Given the description of an element on the screen output the (x, y) to click on. 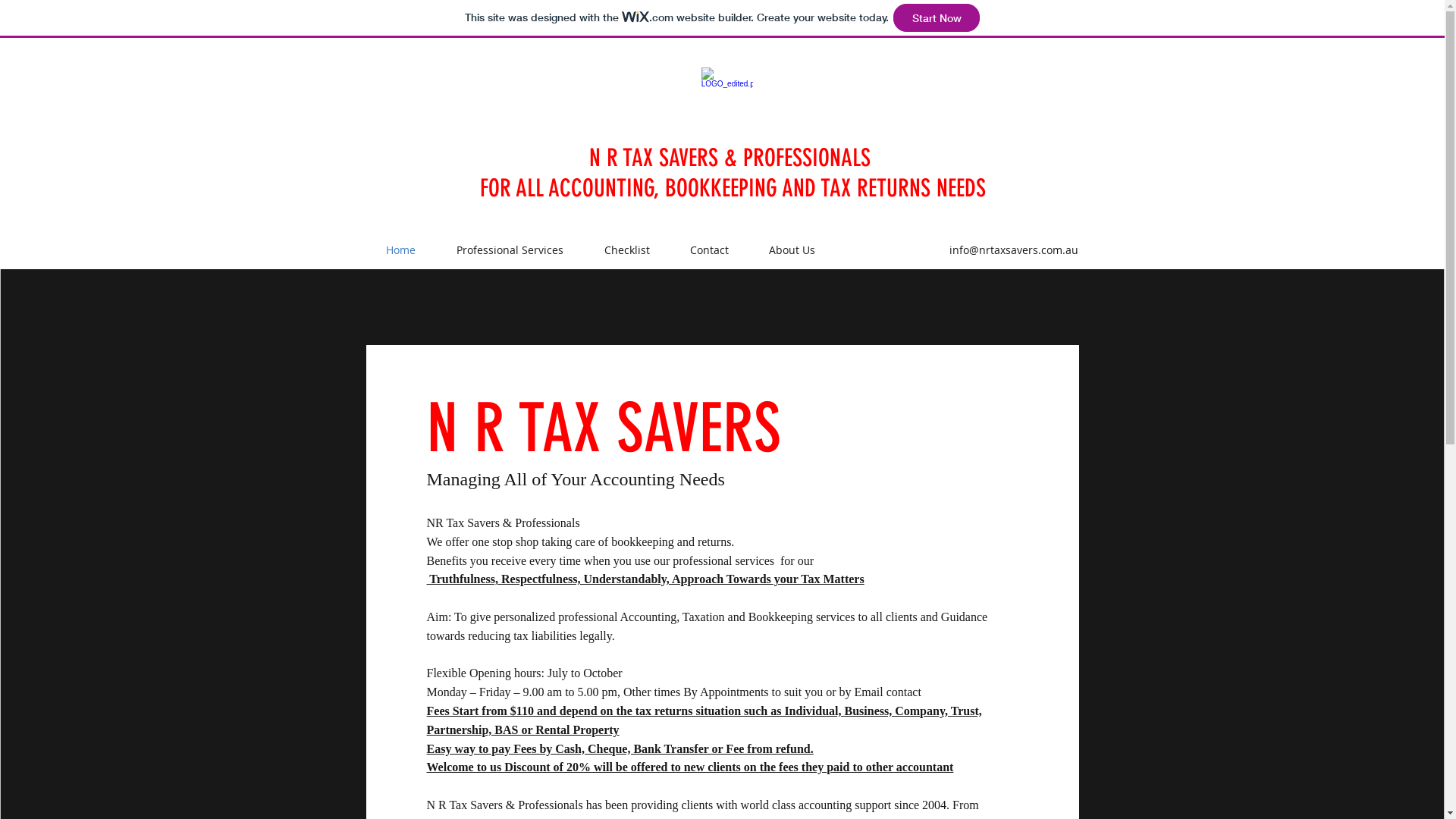
About Us Element type: text (791, 250)
N R TAX SAVERS & PROFESSIONALS  Element type: text (732, 157)
Contact Element type: text (708, 250)
Professional Services Element type: text (509, 250)
Home Element type: text (400, 250)
info@nrtaxsavers.com.au Element type: text (1013, 249)
Checklist Element type: text (626, 250)
